Given the description of an element on the screen output the (x, y) to click on. 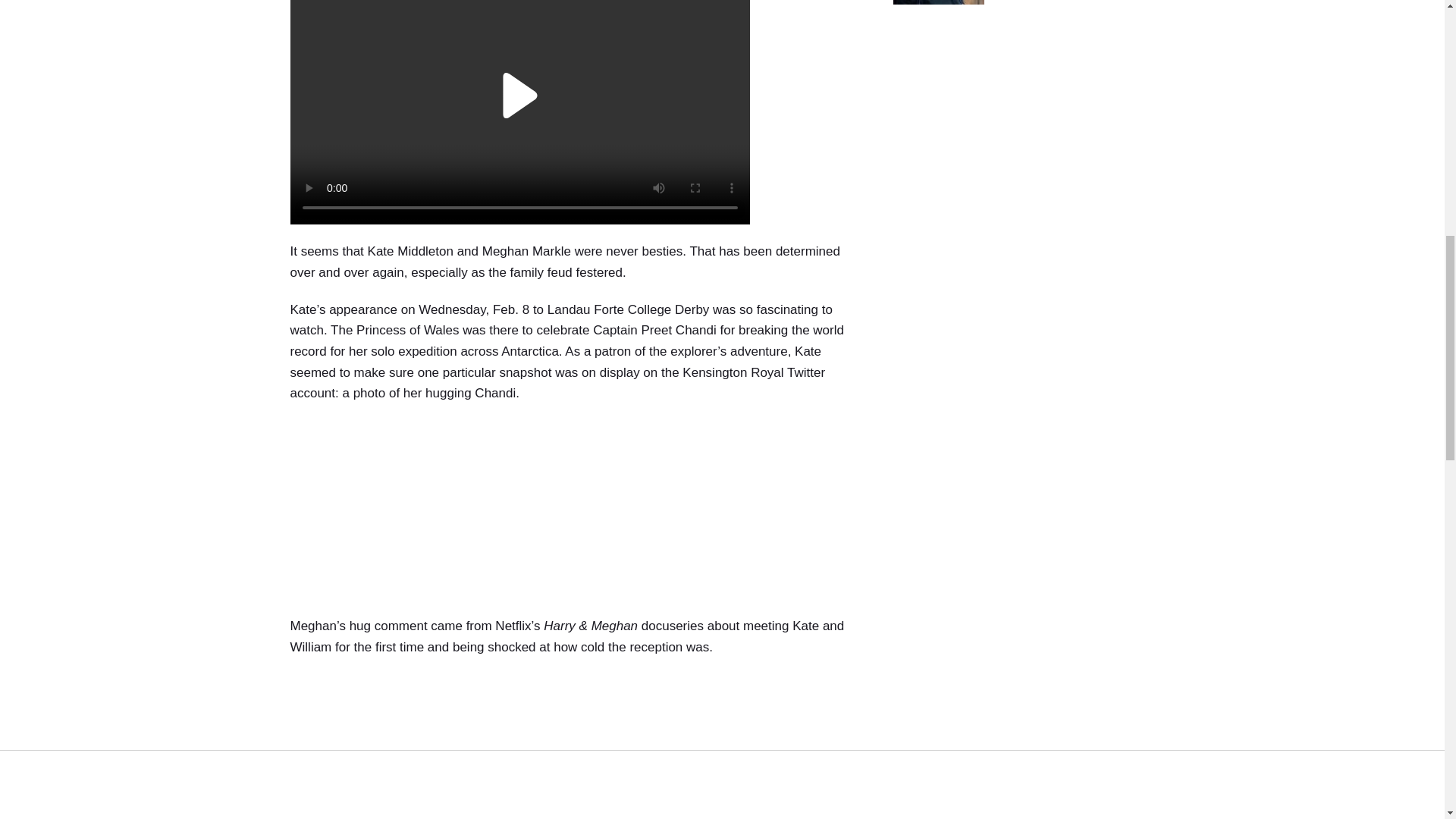
3rd party ad content (574, 514)
3rd party ad content (1023, 129)
3rd party ad content (574, 746)
